Given the description of an element on the screen output the (x, y) to click on. 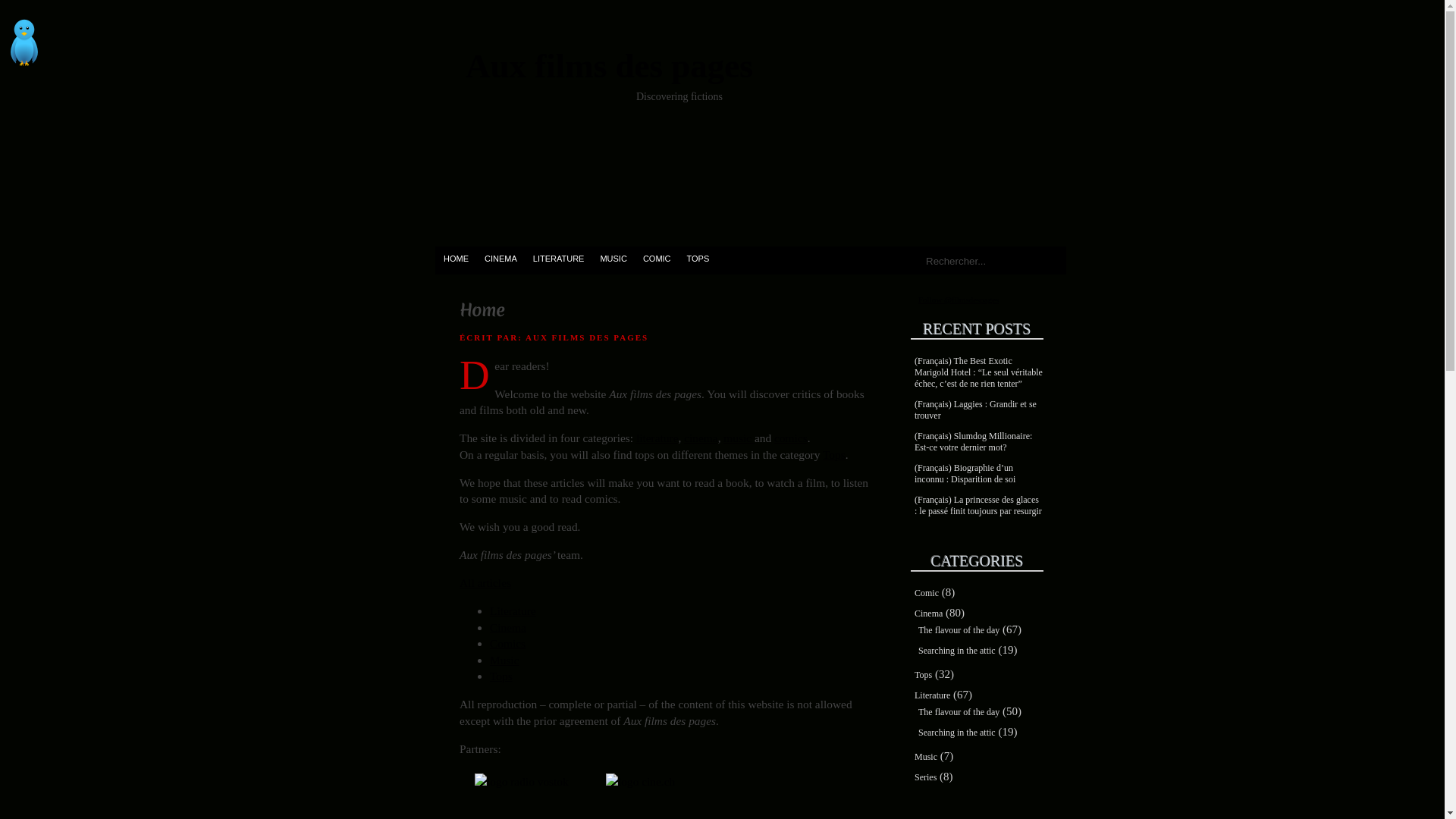
The flavour of the day Element type: text (958, 629)
cinema Element type: text (700, 437)
Searching in the attic Element type: text (956, 732)
Literature Element type: text (512, 610)
Tops Element type: text (500, 675)
MUSIC Element type: text (612, 257)
Series Element type: text (925, 776)
CINEMA Element type: text (500, 257)
HOME Element type: text (455, 257)
Literature Element type: text (932, 695)
Tops Element type: text (833, 454)
The flavour of the day Element type: text (958, 711)
Cinema Element type: text (507, 627)
music Element type: text (738, 437)
comics Element type: text (790, 437)
Follow @filmsdespages Element type: text (958, 299)
COMIC Element type: text (656, 257)
TOPS Element type: text (697, 257)
Searching in the attic Element type: text (956, 650)
Comics Element type: text (507, 643)
Tops Element type: text (922, 674)
literature Element type: text (657, 437)
Cinema Element type: text (928, 613)
Music Element type: text (503, 659)
Comic Element type: text (926, 592)
All articles Element type: text (485, 582)
LITERATURE Element type: text (558, 257)
Music Element type: text (925, 756)
